Given the description of an element on the screen output the (x, y) to click on. 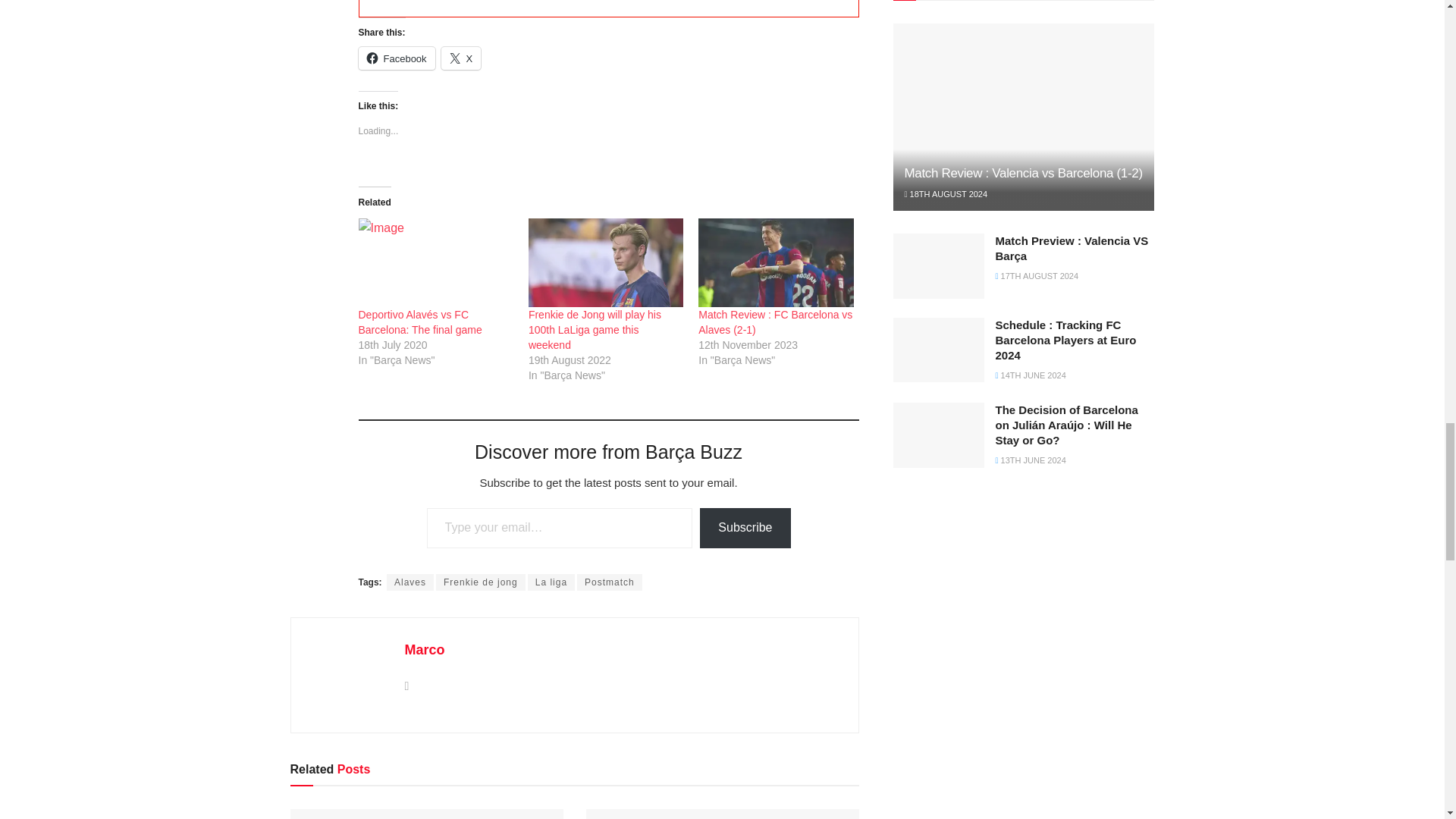
Frenkie de Jong will play his 100th LaLiga game this weekend (594, 329)
Frenkie de Jong will play his 100th LaLiga game this weekend (605, 262)
Click to share on X (461, 57)
Click to share on Facebook (395, 57)
